Given the description of an element on the screen output the (x, y) to click on. 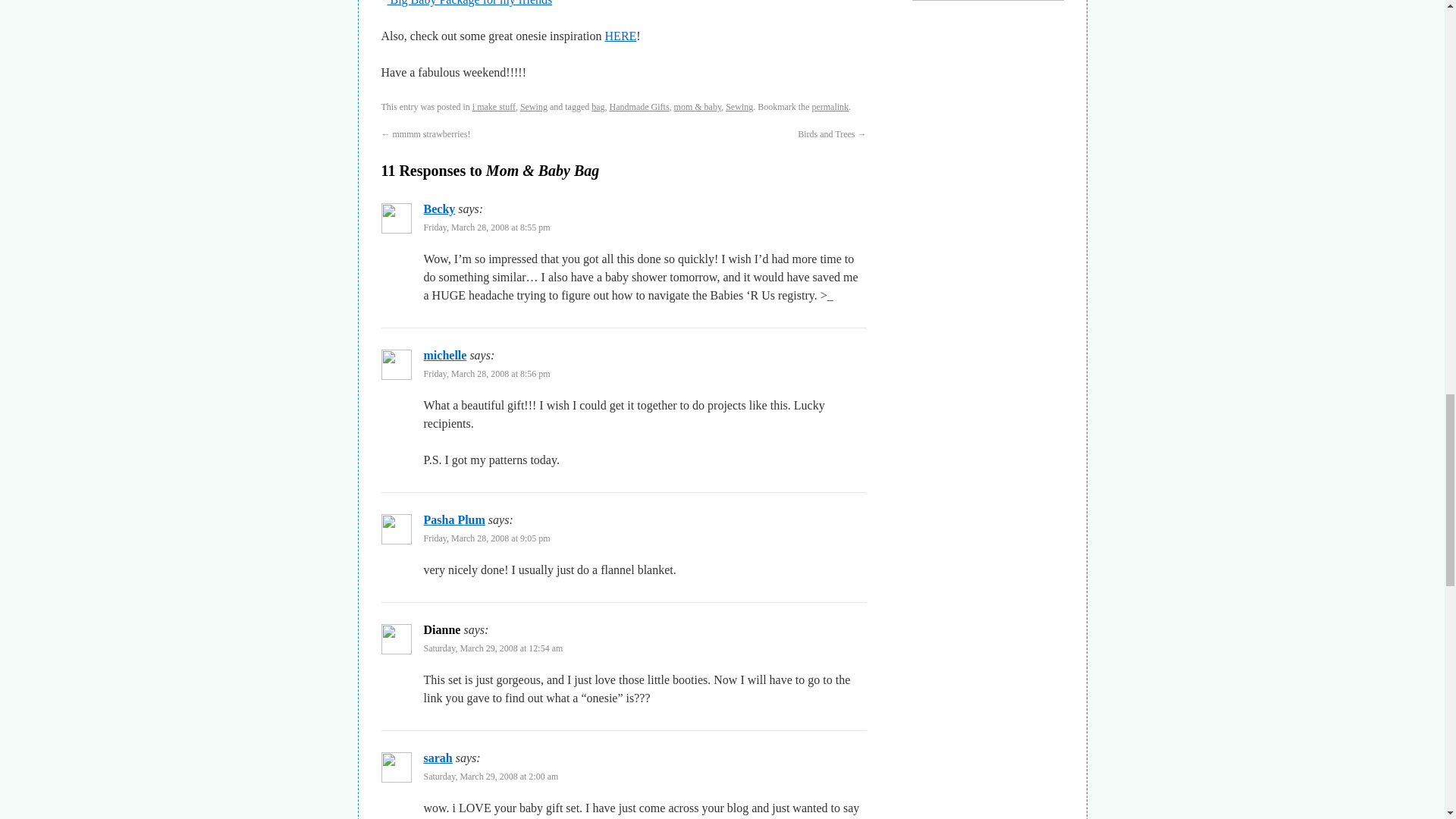
Friday, March 28, 2008 at 8:55 pm (486, 226)
Big Baby Package for my friends (469, 2)
Sewing (738, 106)
i make stuff (493, 106)
Becky (438, 208)
Permanent Link: Big Baby Package for my friends (469, 2)
Handmade Gifts (639, 106)
Friday, March 28, 2008 at 8:56 pm (486, 373)
permalink (829, 106)
bag (597, 106)
